Given the description of an element on the screen output the (x, y) to click on. 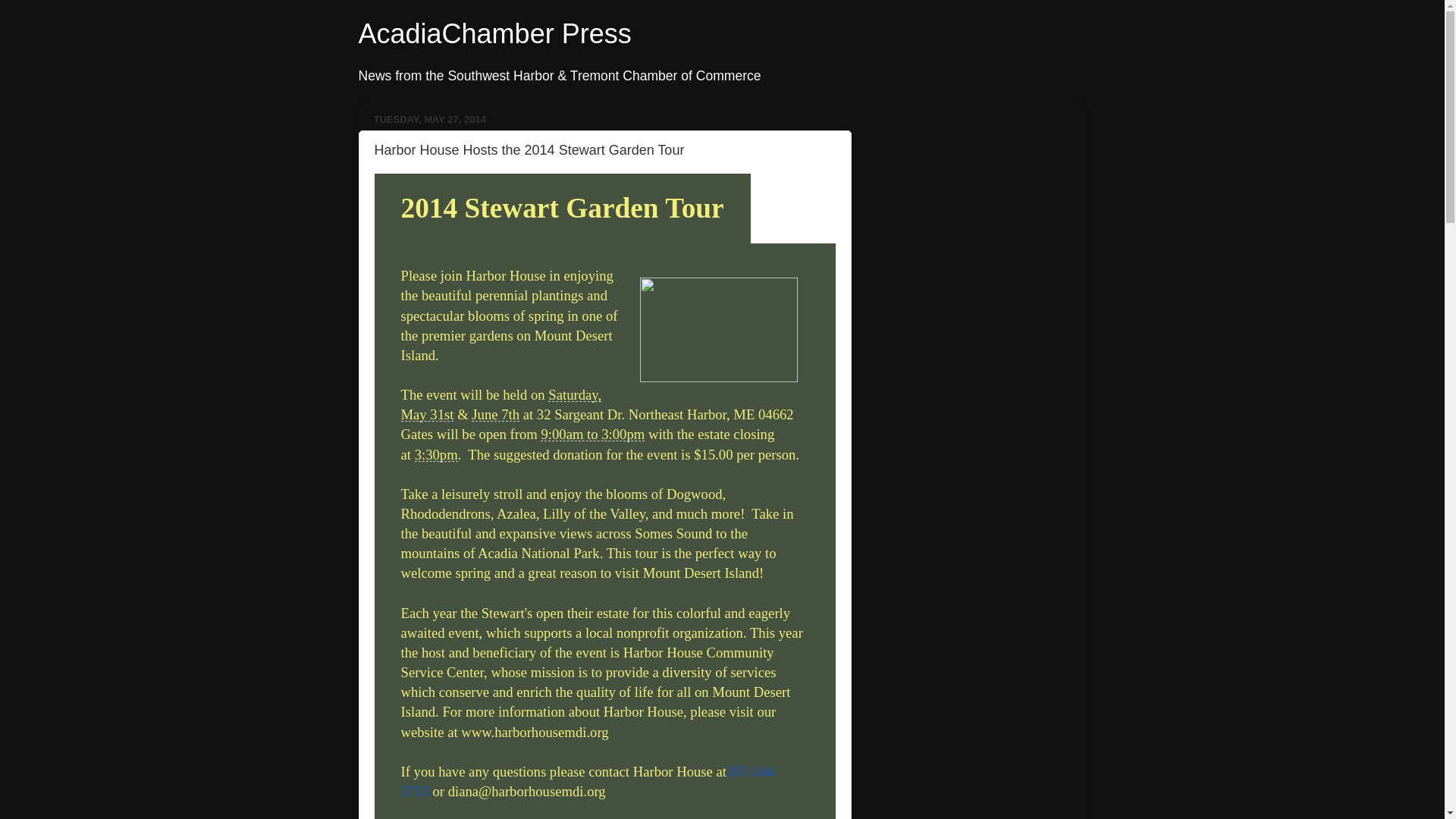
www.harborhousemdi.org (534, 731)
207-244-3713 (588, 781)
AcadiaChamber Press (494, 33)
